Given the description of an element on the screen output the (x, y) to click on. 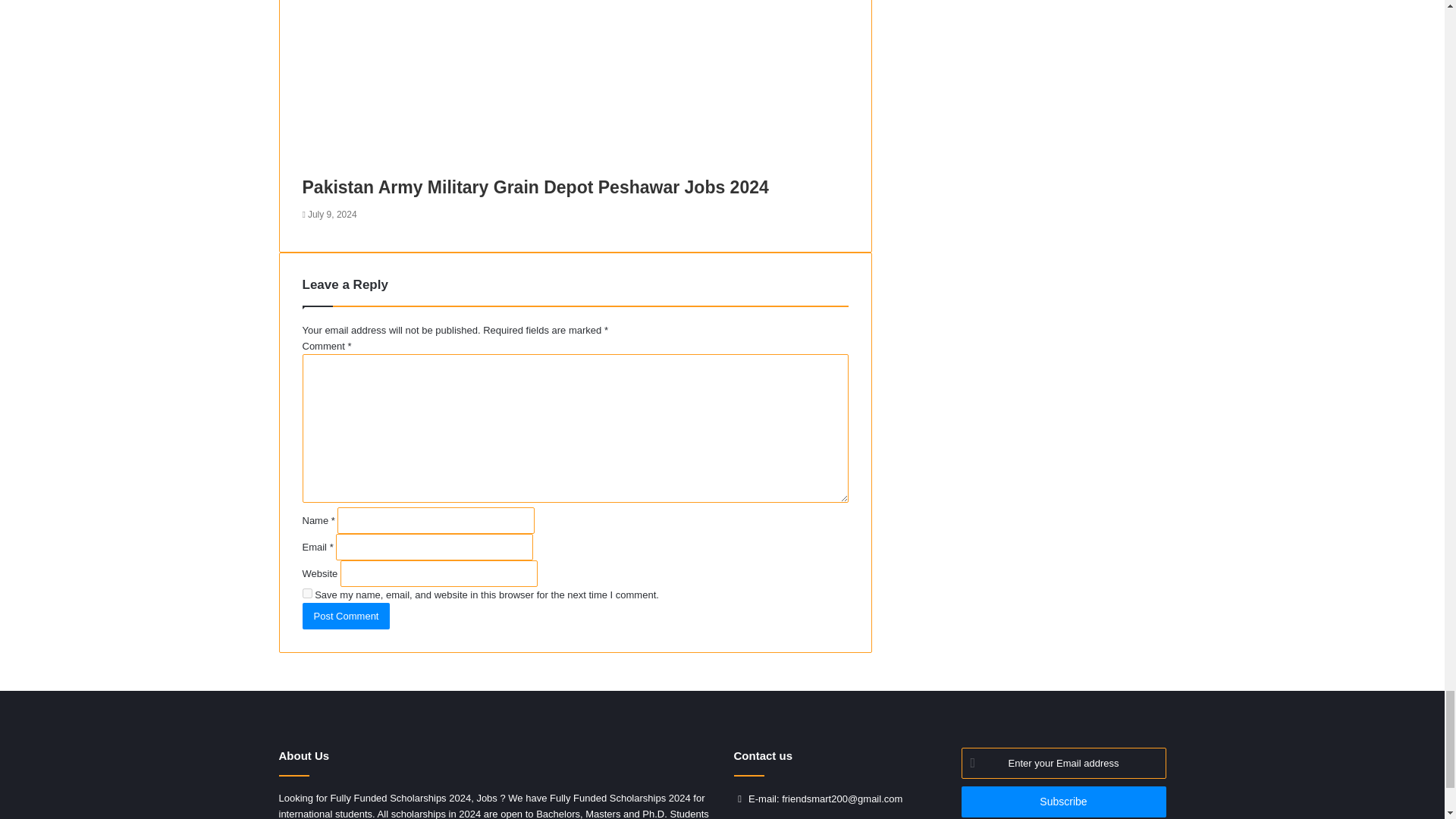
yes (306, 593)
Post Comment (345, 615)
Subscribe (1063, 801)
